Given the description of an element on the screen output the (x, y) to click on. 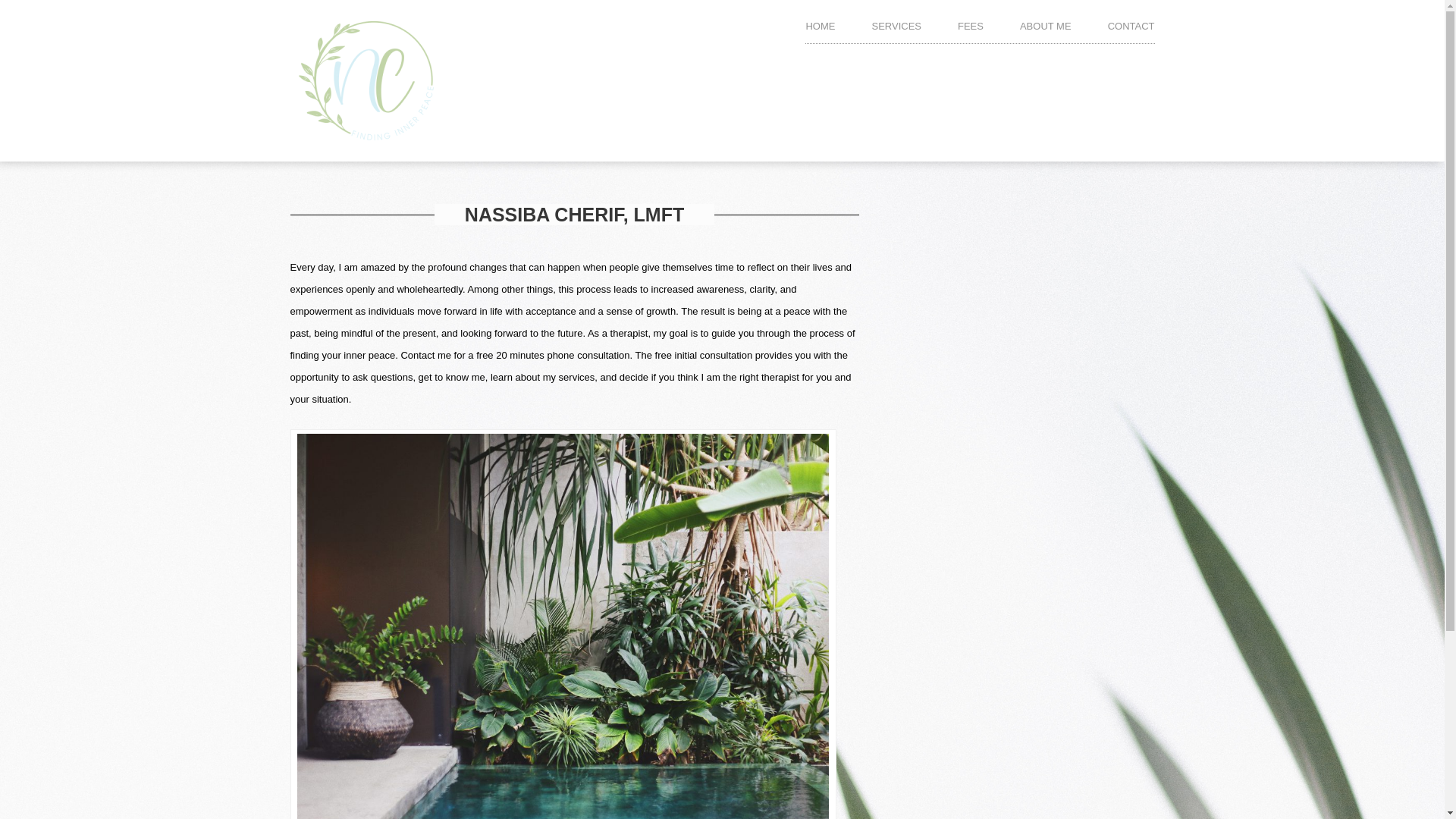
SERVICES (895, 30)
HOME (819, 30)
FEES (971, 30)
ABOUT ME (1045, 30)
CONTACT (1131, 30)
